Given the description of an element on the screen output the (x, y) to click on. 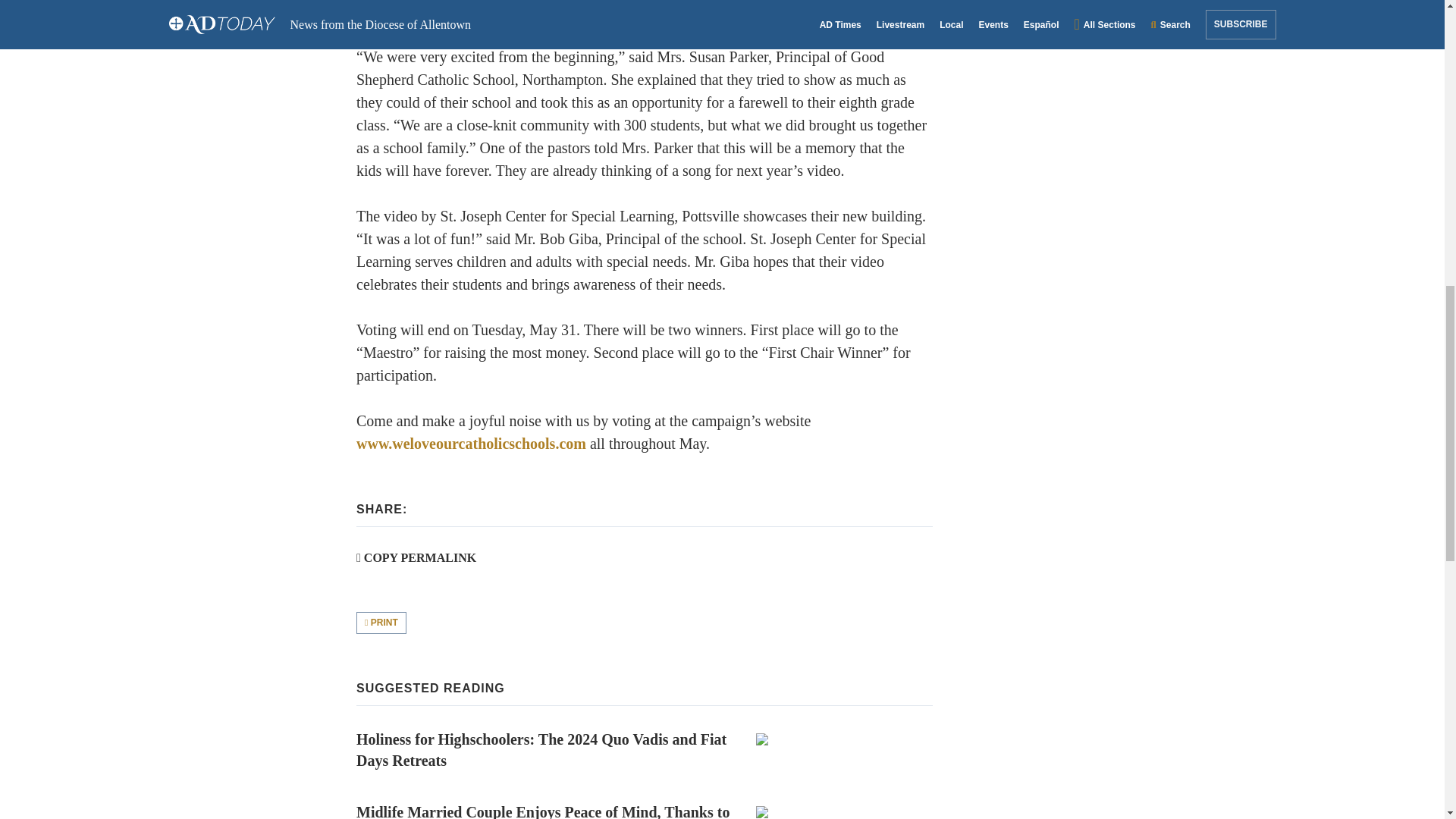
www.weloveourcatholicschools.com (471, 443)
PRINT (381, 622)
